Given the description of an element on the screen output the (x, y) to click on. 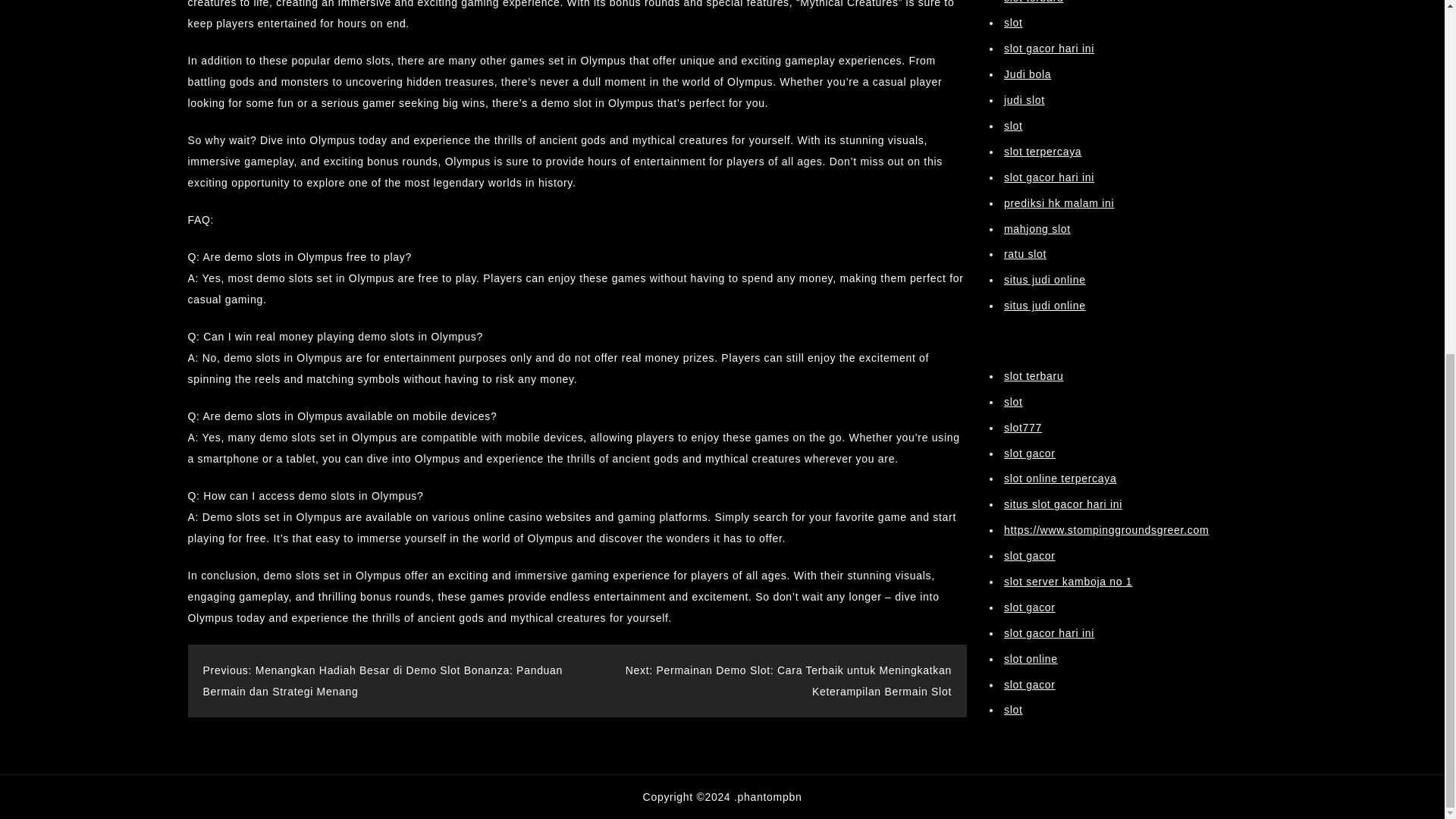
slot gacor hari ini (1049, 99)
judi slot (1024, 21)
situs judi online (1045, 201)
slot terbaru (1033, 297)
Judi bola (1027, 1)
ratu slot (1025, 175)
mahjong slot (1037, 150)
slot terpercaya (1042, 73)
slot (1013, 47)
slot (1013, 323)
slot777 (1023, 349)
situs judi online (1045, 227)
prediksi hk malam ini (1058, 124)
